Given the description of an element on the screen output the (x, y) to click on. 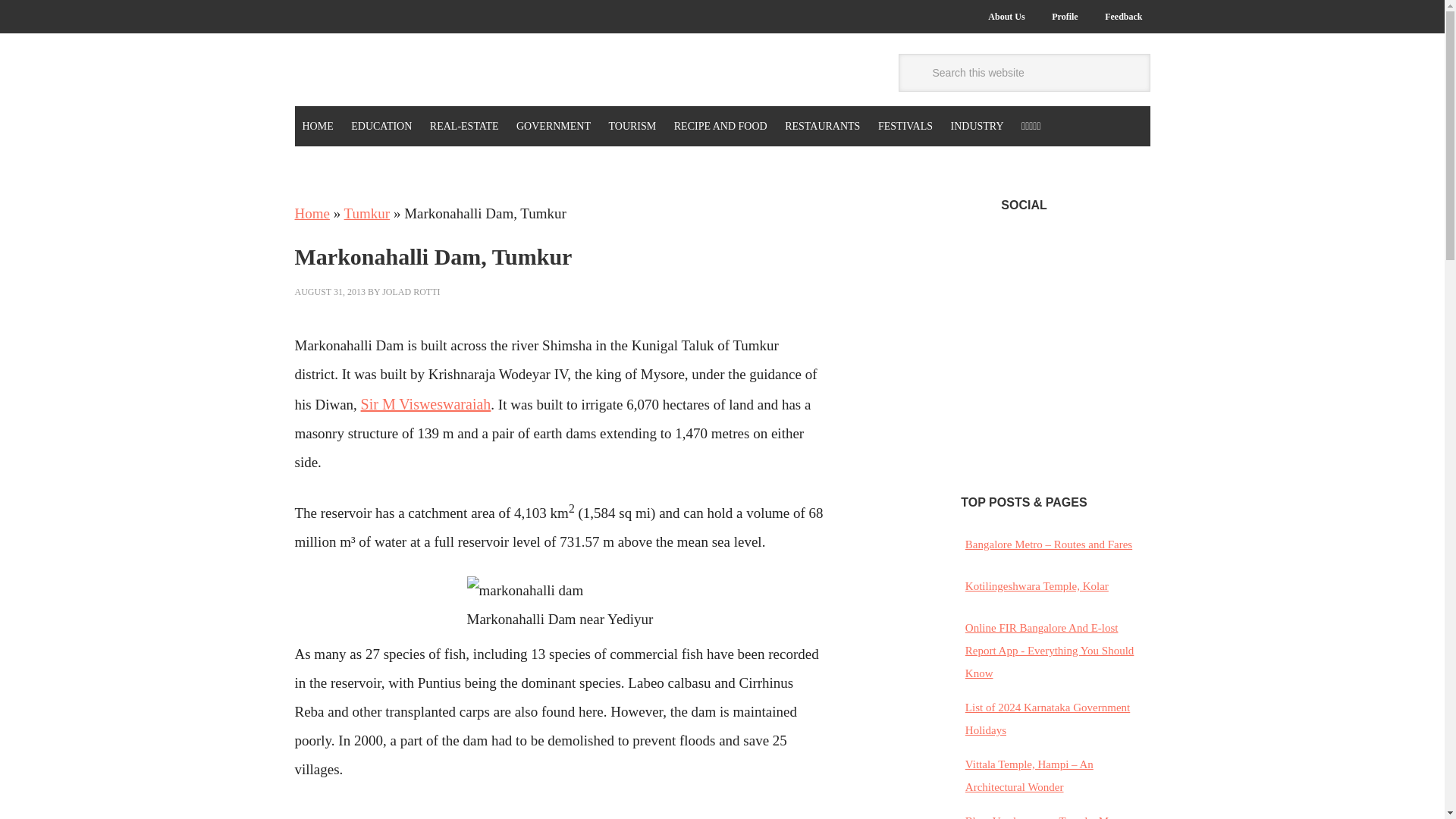
GOVERNMENT (553, 126)
KARNATAKA.COM (396, 71)
HOME (317, 126)
JOLAD ROTTI (410, 291)
Kotilingeshwara Temple, Kolar (1036, 585)
Profile (1064, 16)
About Us (1005, 16)
RECIPE AND FOOD (720, 126)
EDUCATION (381, 126)
